Given the description of an element on the screen output the (x, y) to click on. 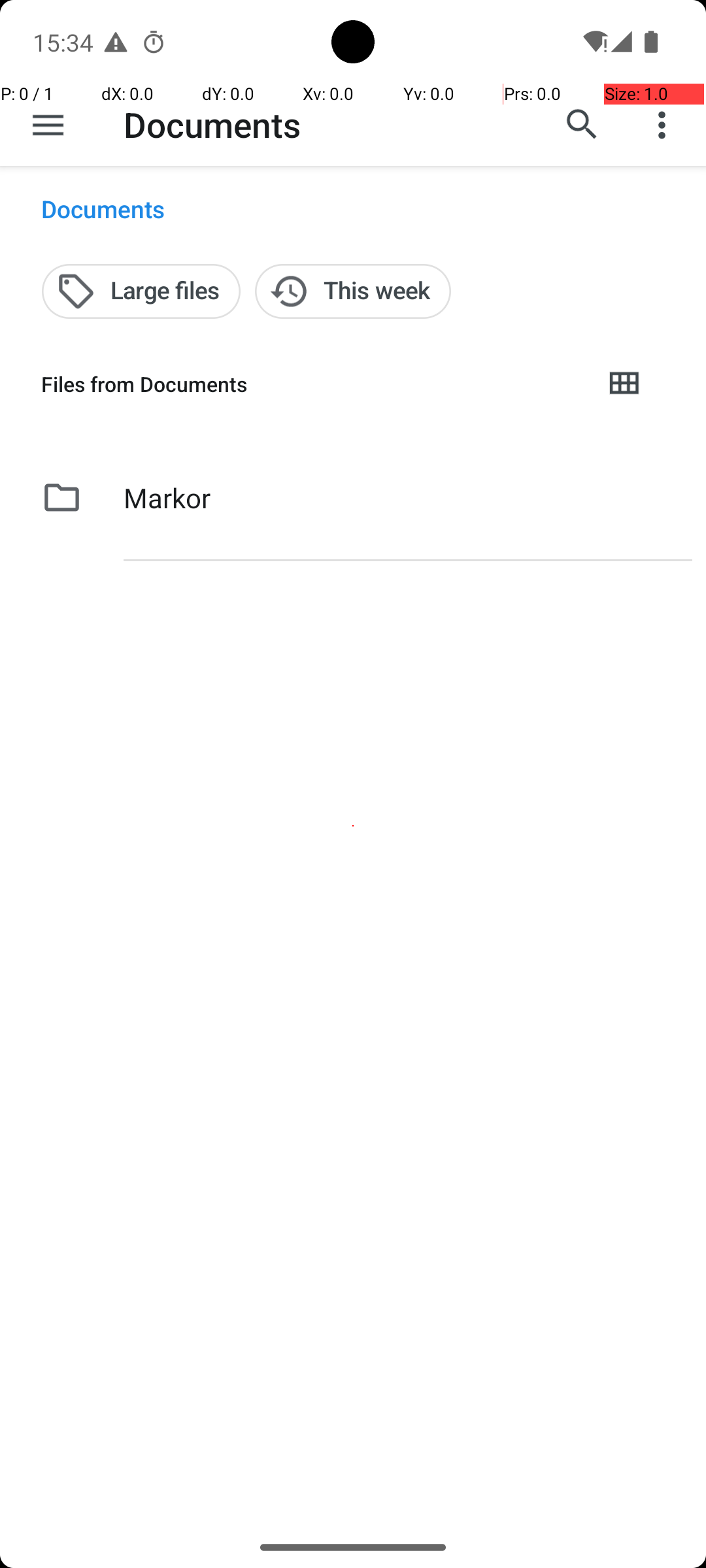
Files from Documents Element type: android.widget.TextView (311, 383)
